Given the description of an element on the screen output the (x, y) to click on. 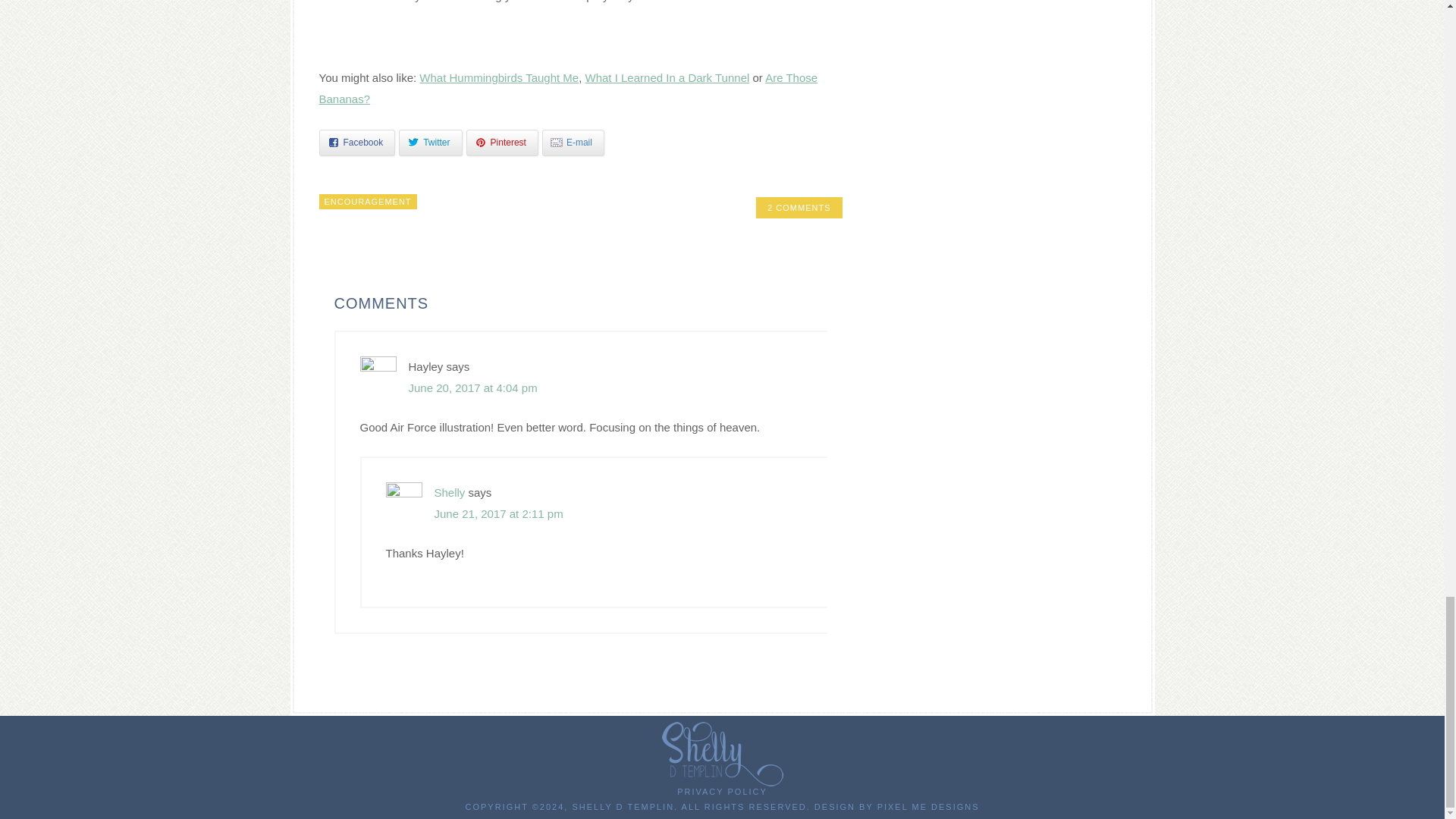
Twitter (429, 142)
Shelly (448, 492)
PIXEL ME DESIGNS (928, 806)
Facebook (356, 142)
Share an image of this article on Pinterest (501, 142)
Share this article on Twitter (429, 142)
Pinterest (501, 142)
Share this article on Facebook (356, 142)
E-mail (572, 142)
2 COMMENTS (798, 207)
